Given the description of an element on the screen output the (x, y) to click on. 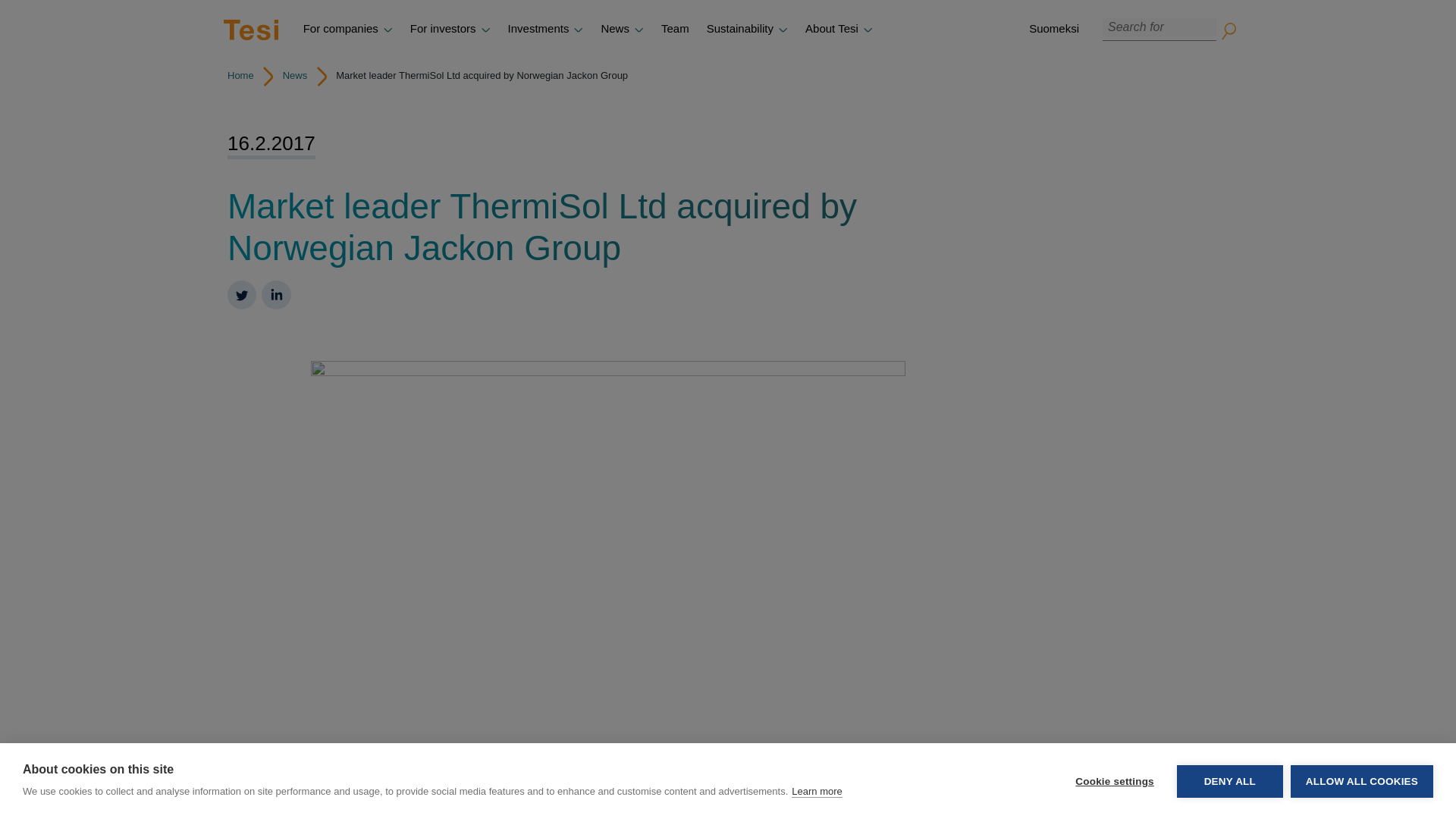
For investors (450, 29)
For companies (347, 29)
Investments (545, 29)
Investments (545, 29)
Sustainability (746, 29)
Suomeksi (1053, 29)
Cookie settings (1114, 816)
News (621, 29)
DENY ALL (1229, 812)
ALLOW ALL COOKIES (1361, 804)
